Given the description of an element on the screen output the (x, y) to click on. 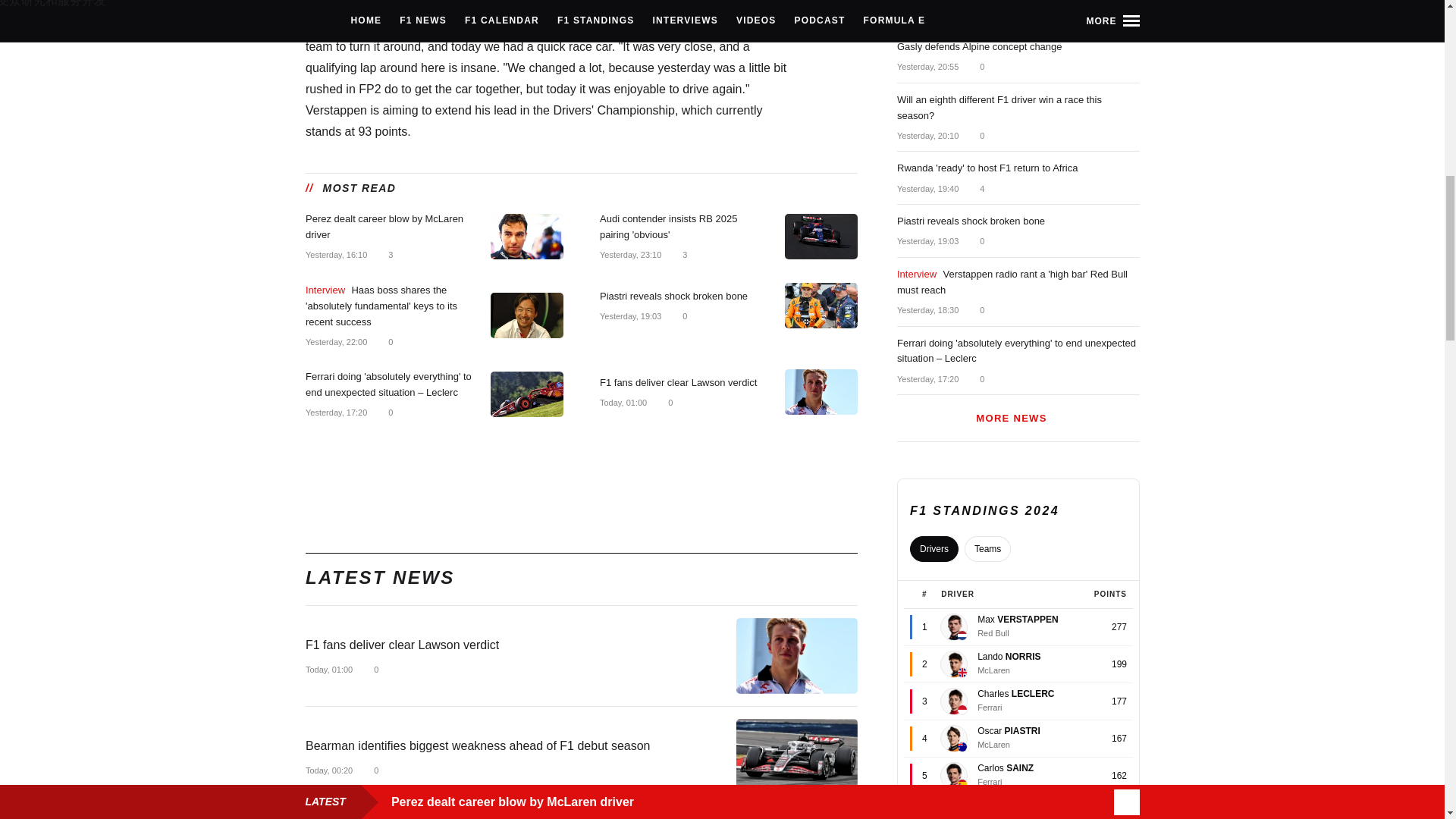
Sunday 11 August 2024 at 16:10 (335, 254)
Sunday 11 August 2024 at 22:00 (335, 341)
Monday 12 August 2024 at 01:00 (328, 669)
Sunday 11 August 2024 at 17:20 (335, 411)
Sunday 11 August 2024 at 23:10 (629, 254)
Monday 12 August 2024 at 01:00 (622, 402)
Sunday 11 August 2024 at 19:03 (629, 316)
